Given the description of an element on the screen output the (x, y) to click on. 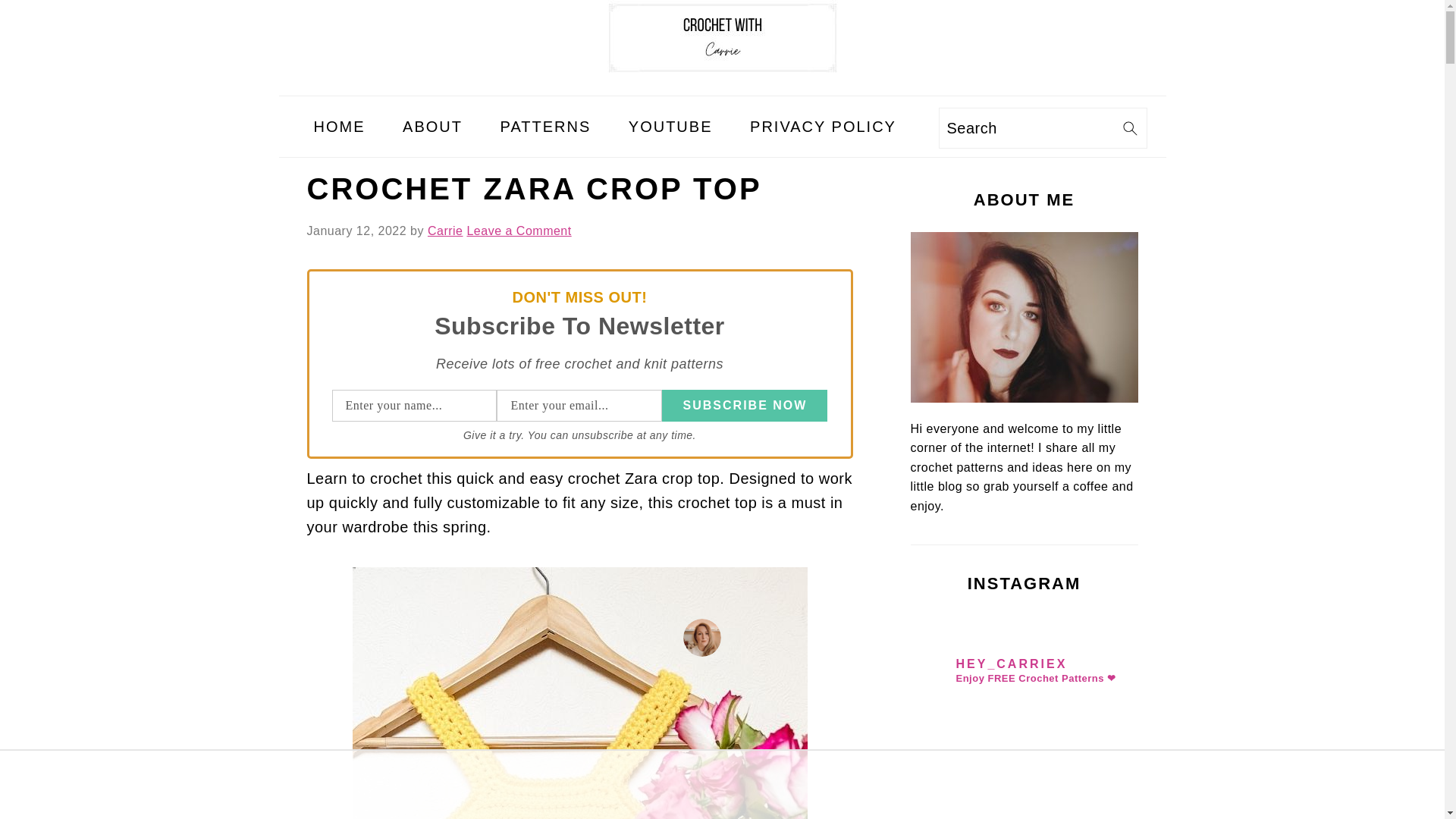
Take Action Now! (270, 15)
ABOUT (433, 126)
Crochet with Carrie (721, 38)
Subscribe Now (744, 405)
PRIVACY POLICY (822, 126)
PATTERNS (545, 126)
Leave a Comment (517, 230)
Crochet with Carrie (721, 83)
Carrie (445, 230)
Subscribe Now (744, 405)
HOME (338, 126)
YOUTUBE (670, 126)
